Given the description of an element on the screen output the (x, y) to click on. 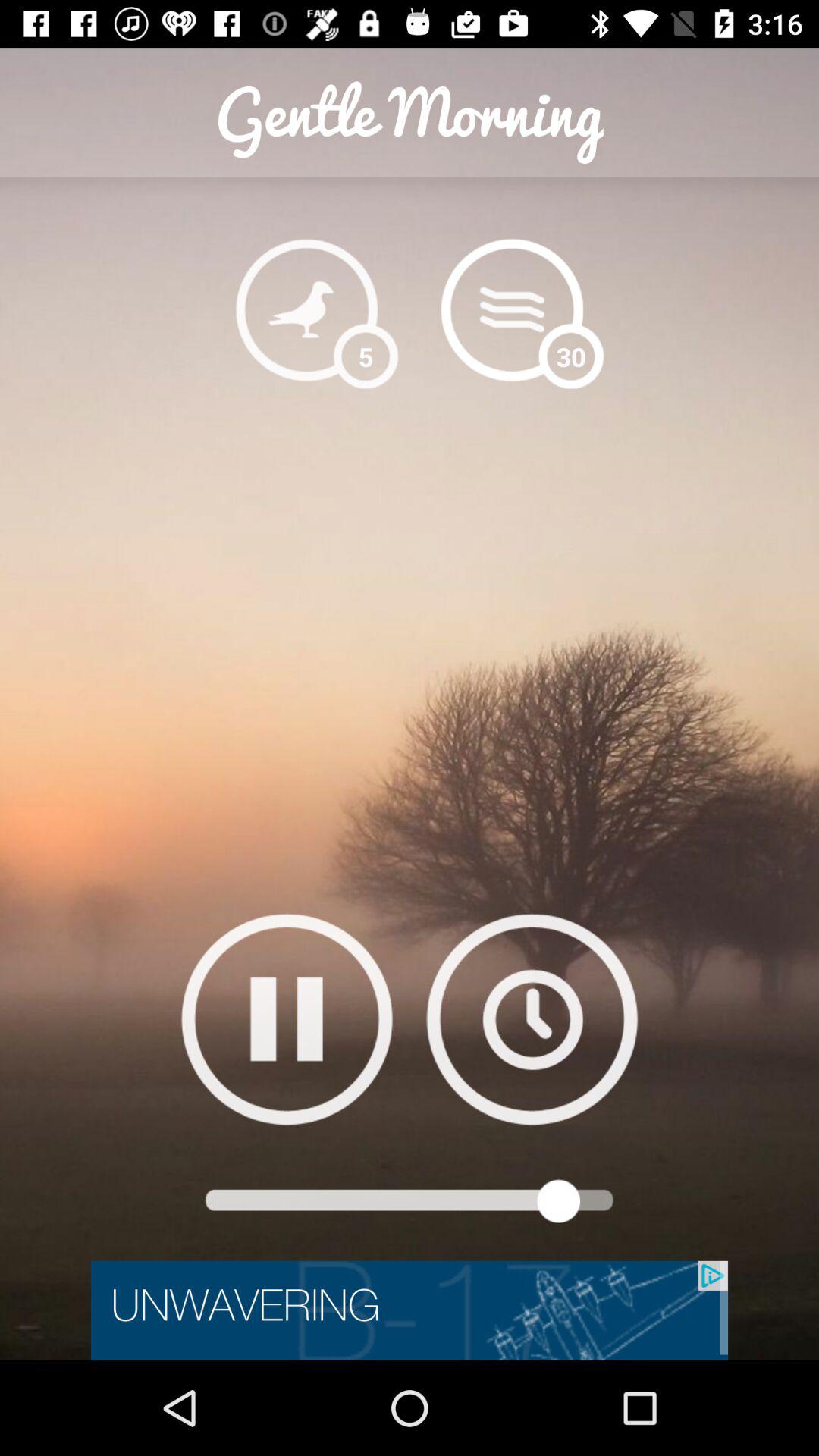
set timer (531, 1018)
